Given the description of an element on the screen output the (x, y) to click on. 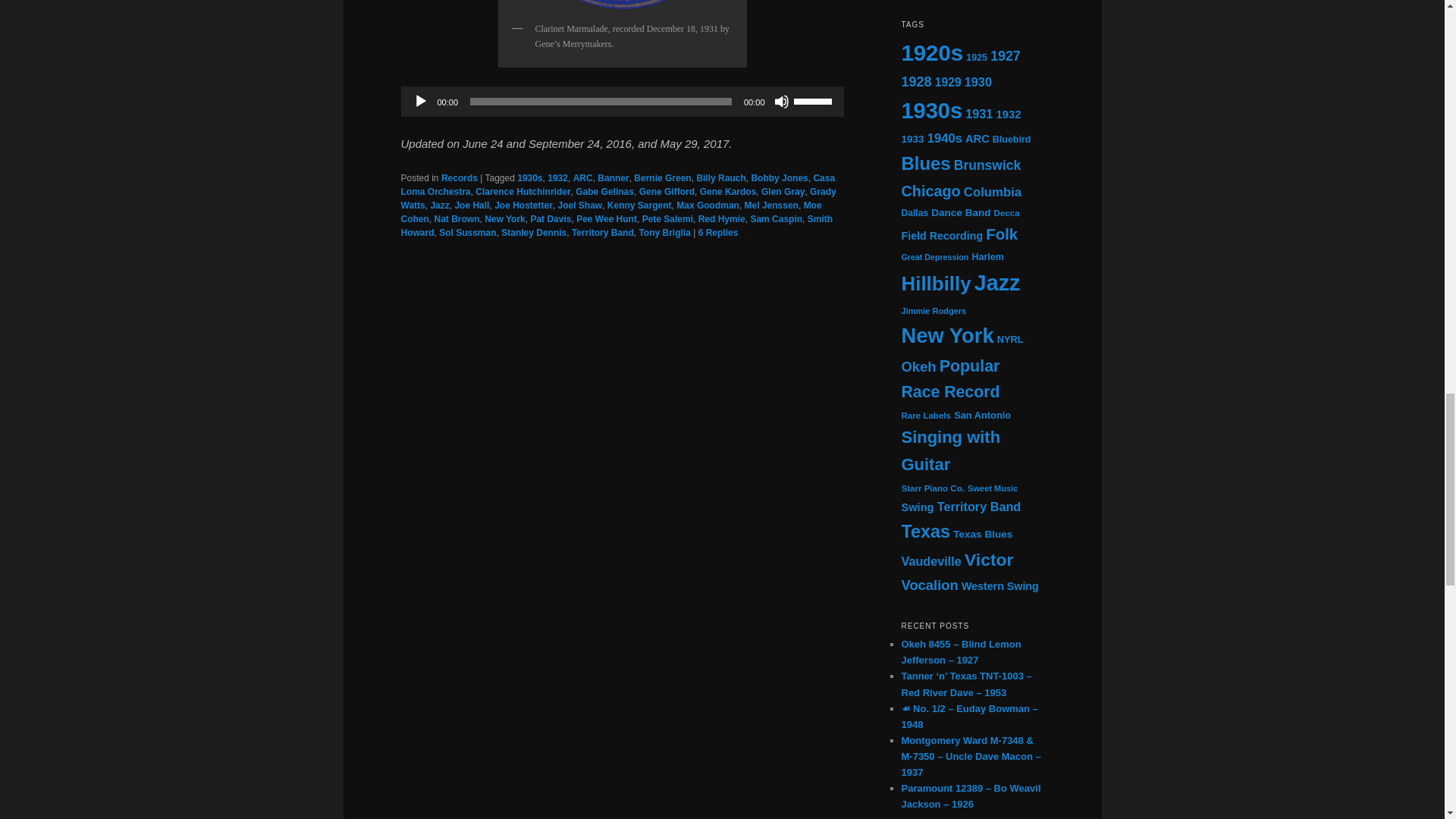
Mute (781, 101)
Play (420, 101)
